Given the description of an element on the screen output the (x, y) to click on. 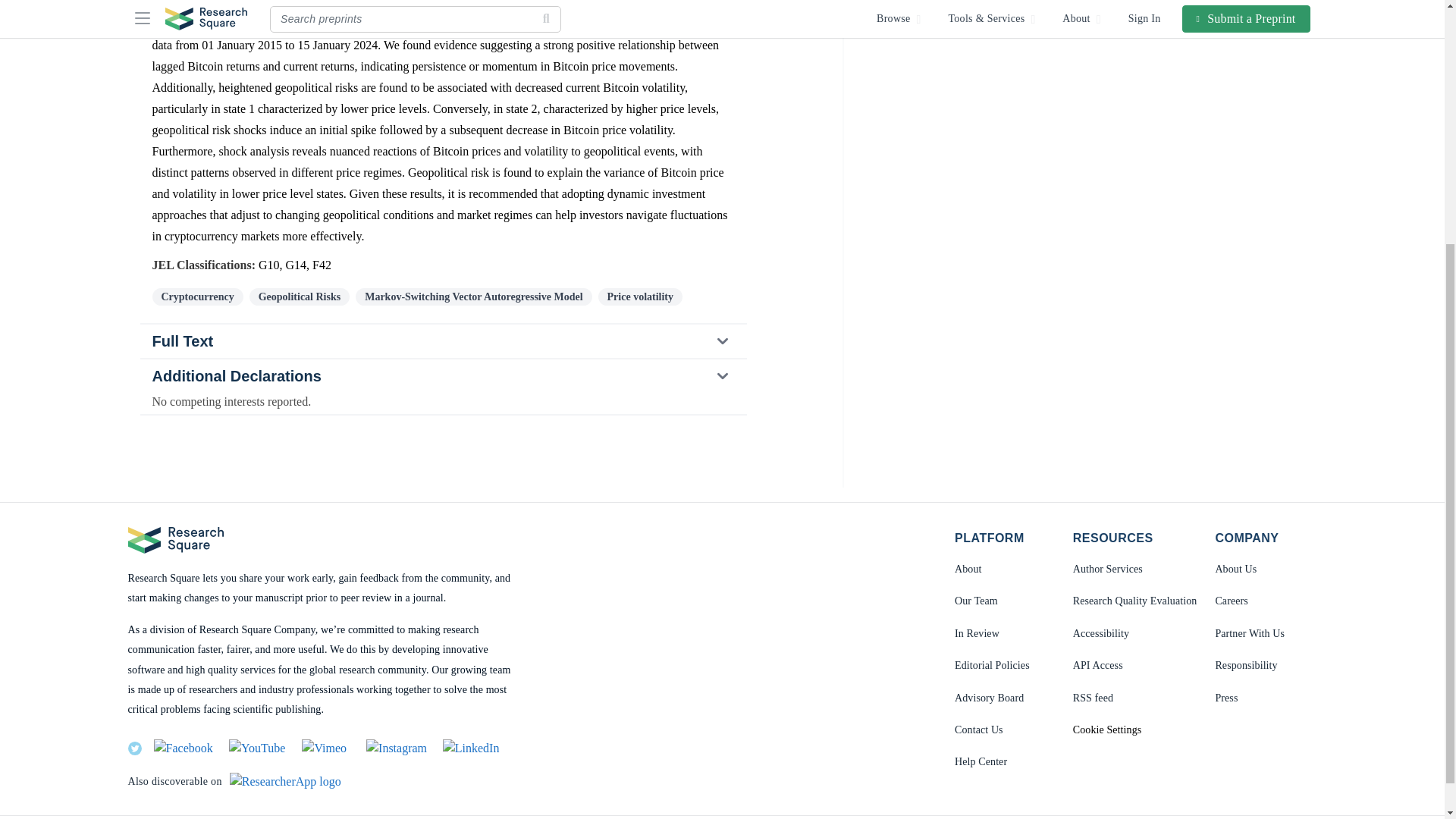
Additional Declarations (442, 376)
Full Text (442, 340)
